Given the description of an element on the screen output the (x, y) to click on. 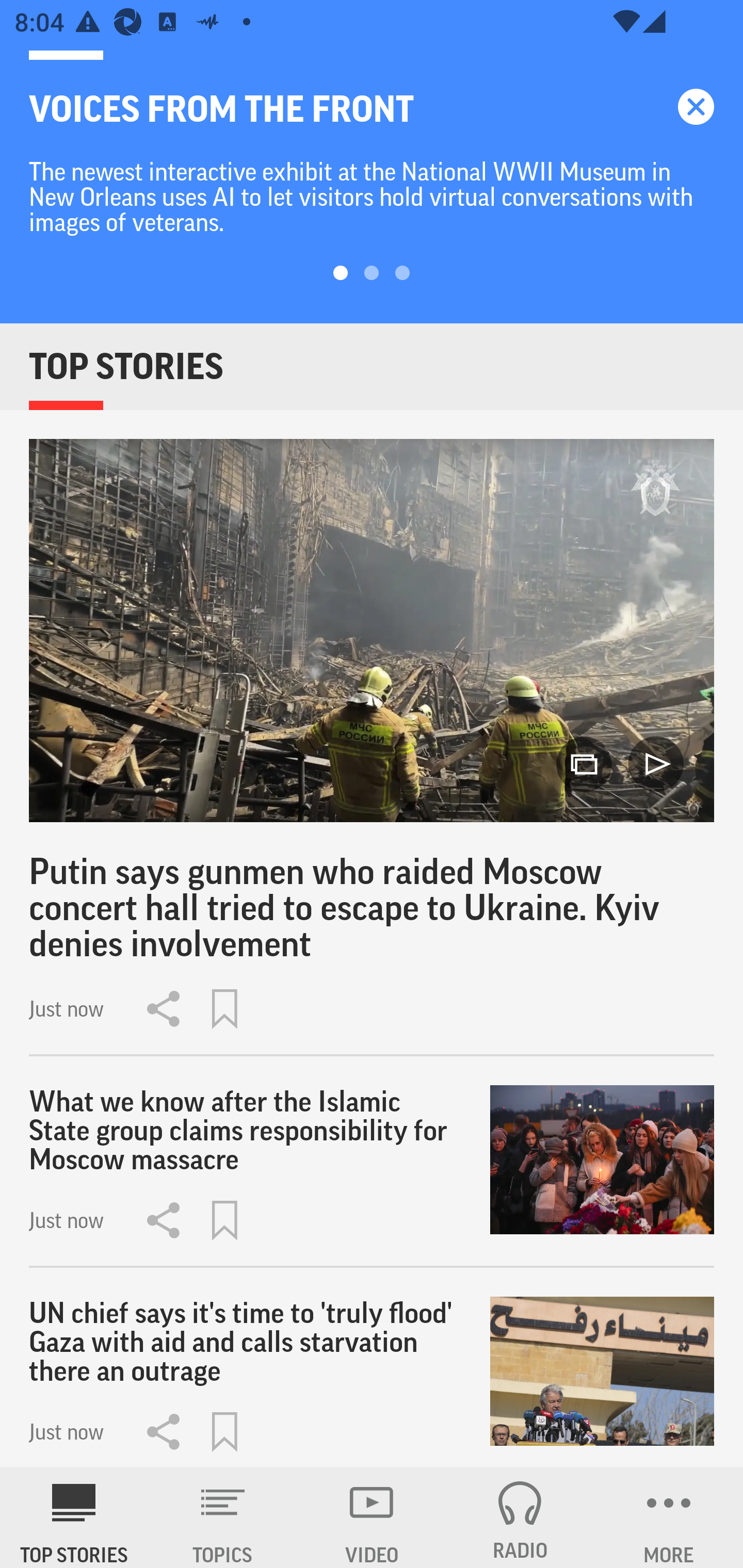
AP News TOP STORIES (74, 1517)
TOPICS (222, 1517)
VIDEO (371, 1517)
RADIO (519, 1517)
MORE (668, 1517)
